Given the description of an element on the screen output the (x, y) to click on. 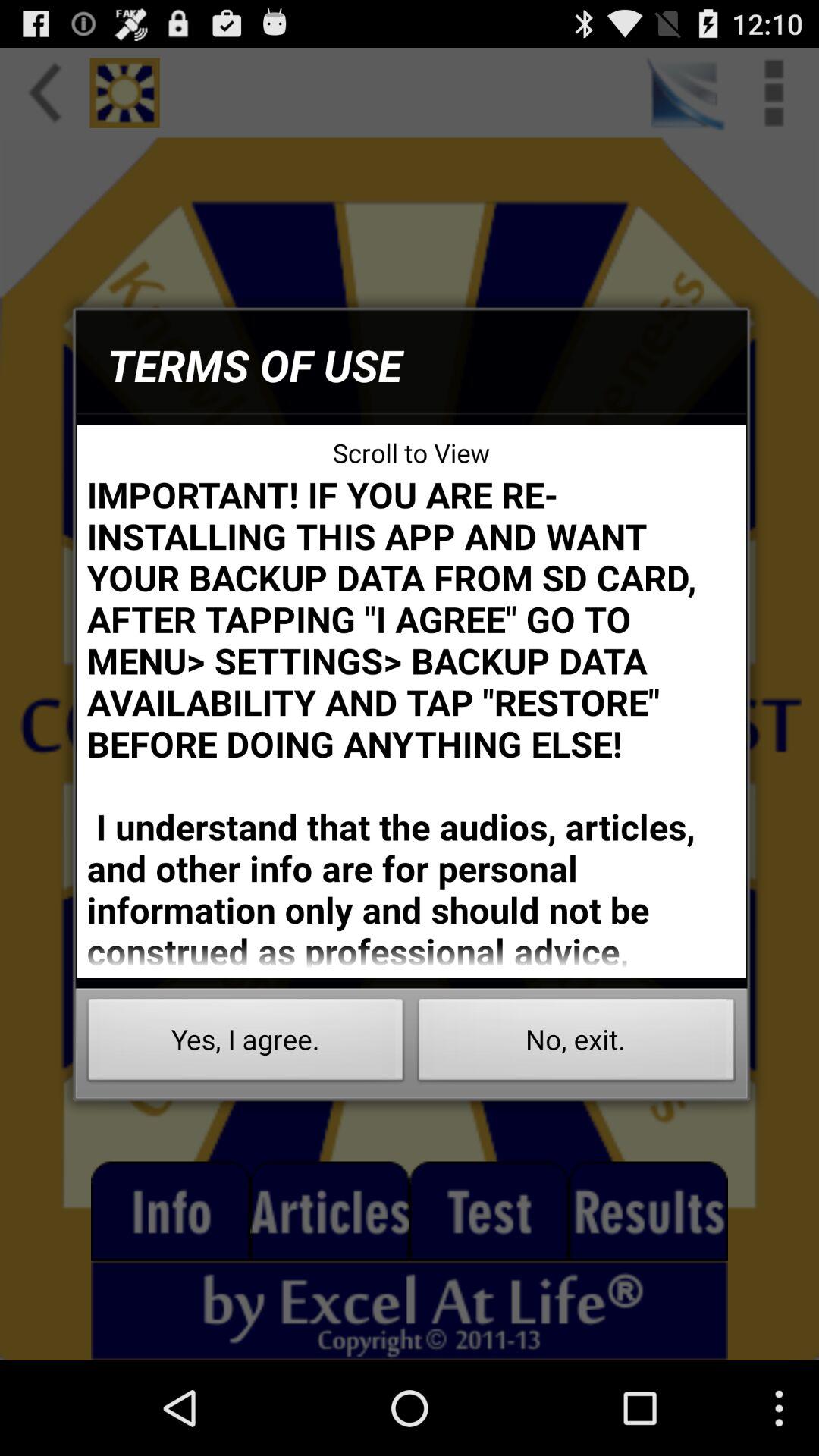
press the no, exit. (576, 1044)
